Given the description of an element on the screen output the (x, y) to click on. 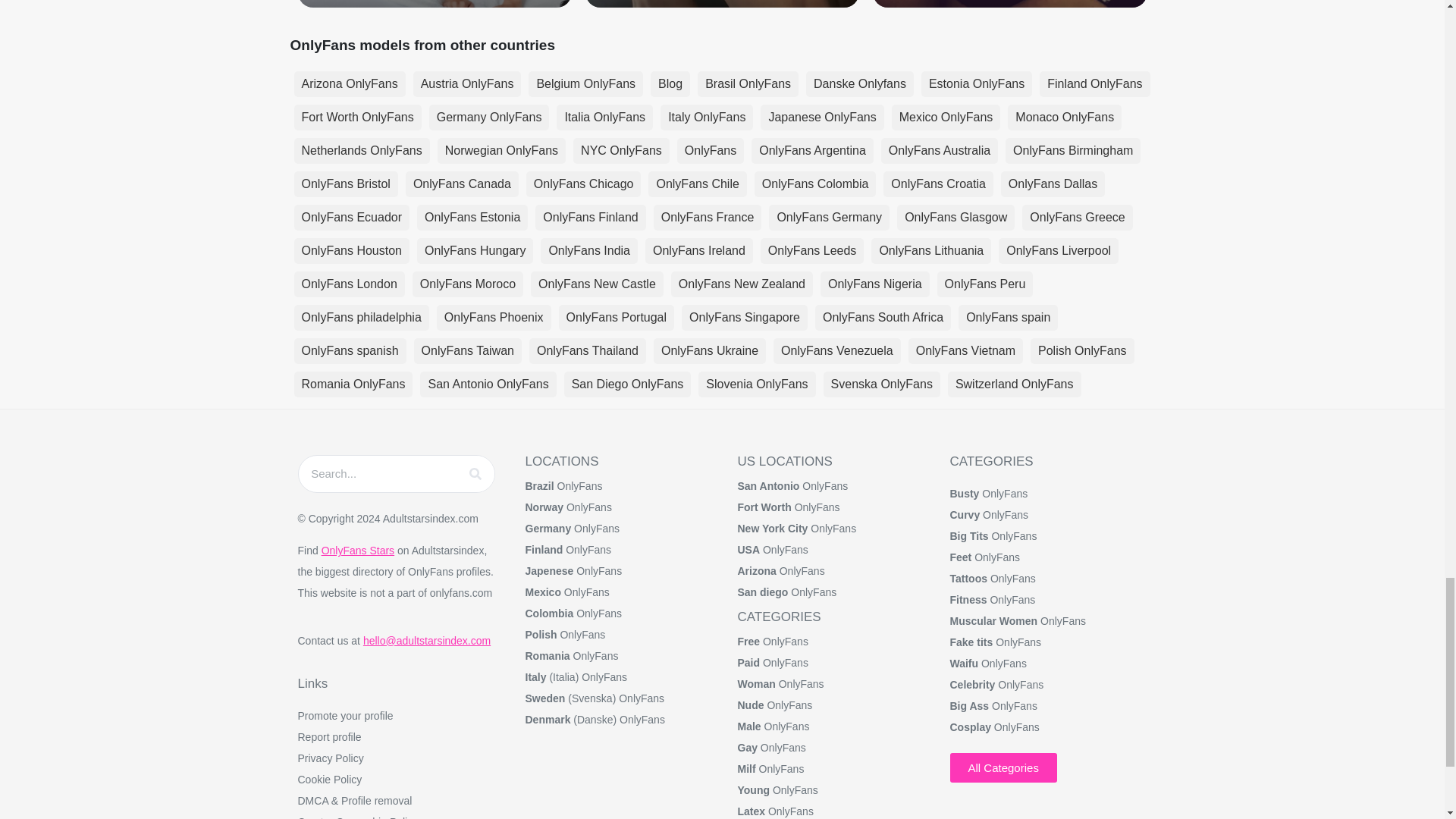
Monaco OnlyFans Category (1064, 117)
Mexico OnlyFans Category (946, 117)
Netherlands OnlyFans Category (361, 150)
Austria OnlyFans Category (467, 84)
Japanese OnlyFans Category (821, 117)
Blog Category (670, 84)
Finland OnlyFans Category (1094, 84)
Italy OnlyFans Category (706, 117)
Arizona OnlyFans Category (350, 84)
Brasil OnlyFans Category (747, 84)
Belgium OnlyFans Category (585, 84)
Danske Onlyfans Category (860, 84)
Italia OnlyFans Category (604, 117)
Norwegian OnlyFans Category (502, 150)
NYC OnlyFans Category (621, 150)
